Given the description of an element on the screen output the (x, y) to click on. 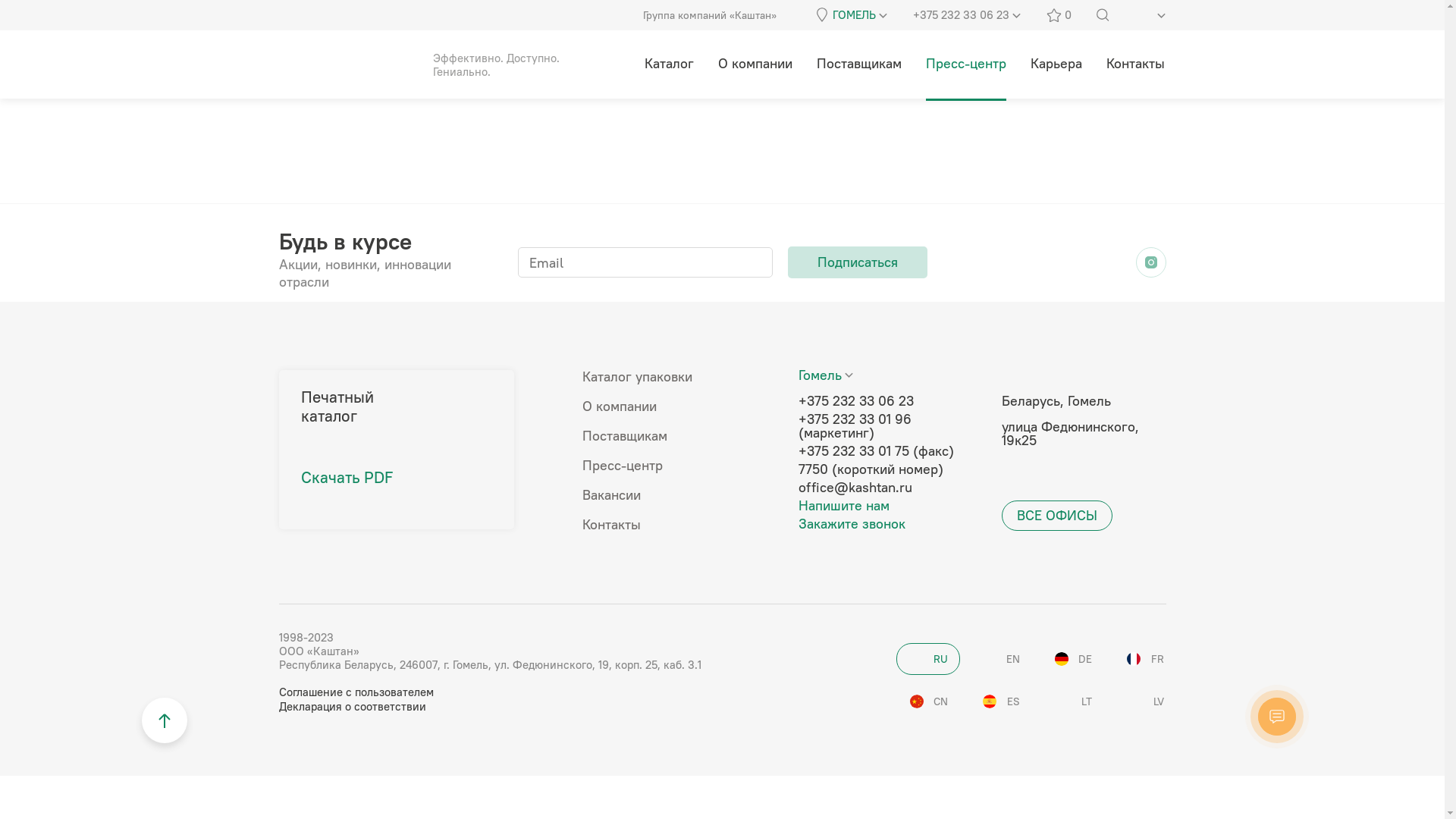
ES Element type: text (999, 701)
office@kashtan.ru Element type: text (891, 487)
CN Element type: text (928, 701)
LT Element type: text (1072, 701)
LV Element type: text (1143, 701)
FR Element type: text (1143, 658)
DE Element type: text (1072, 658)
EN Element type: text (999, 658)
+375 232 33 06 23 Element type: text (891, 400)
RU Element type: text (928, 658)
